Given the description of an element on the screen output the (x, y) to click on. 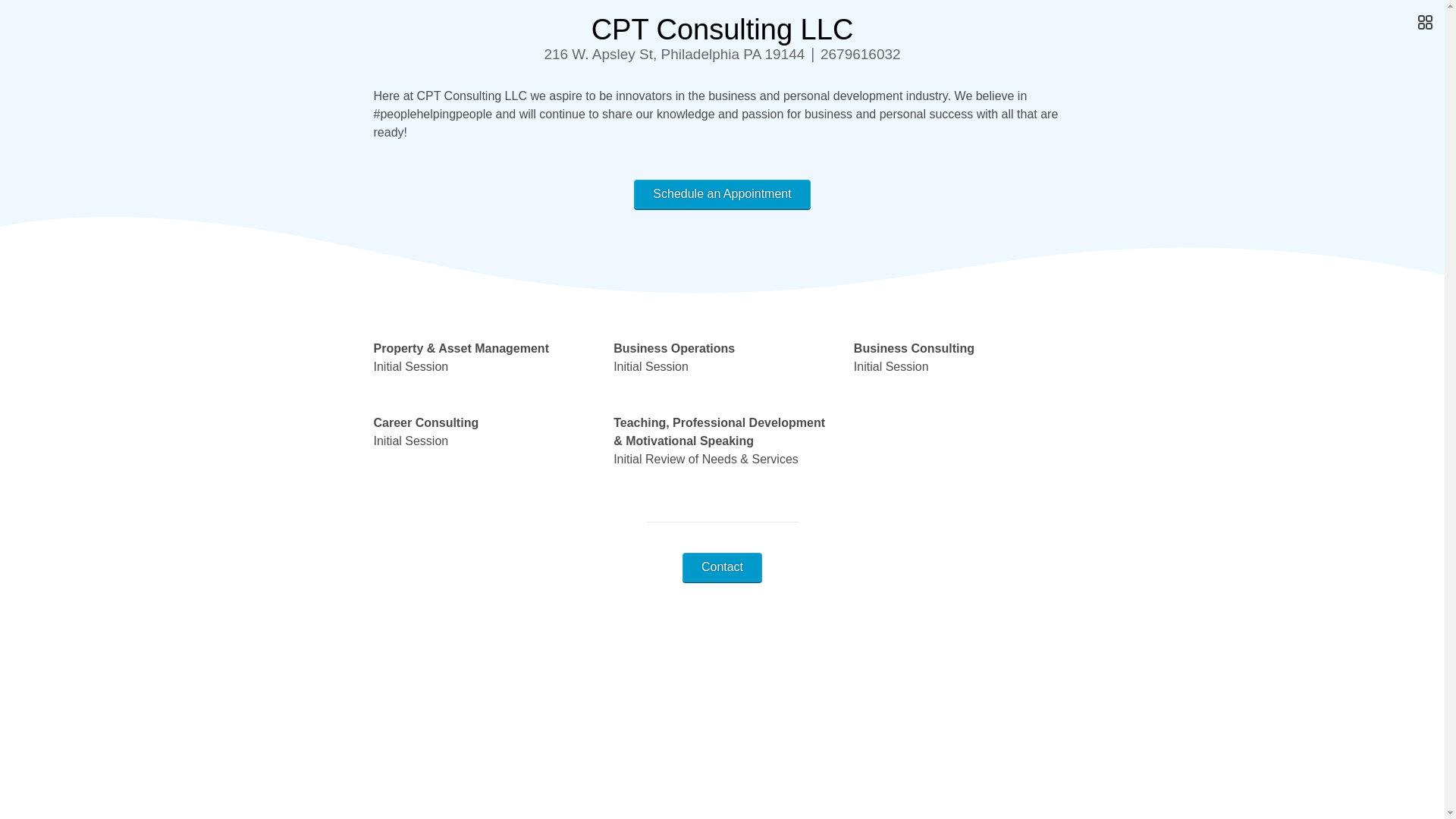
Schedule an Appointment (721, 193)
Contact (721, 566)
